Given the description of an element on the screen output the (x, y) to click on. 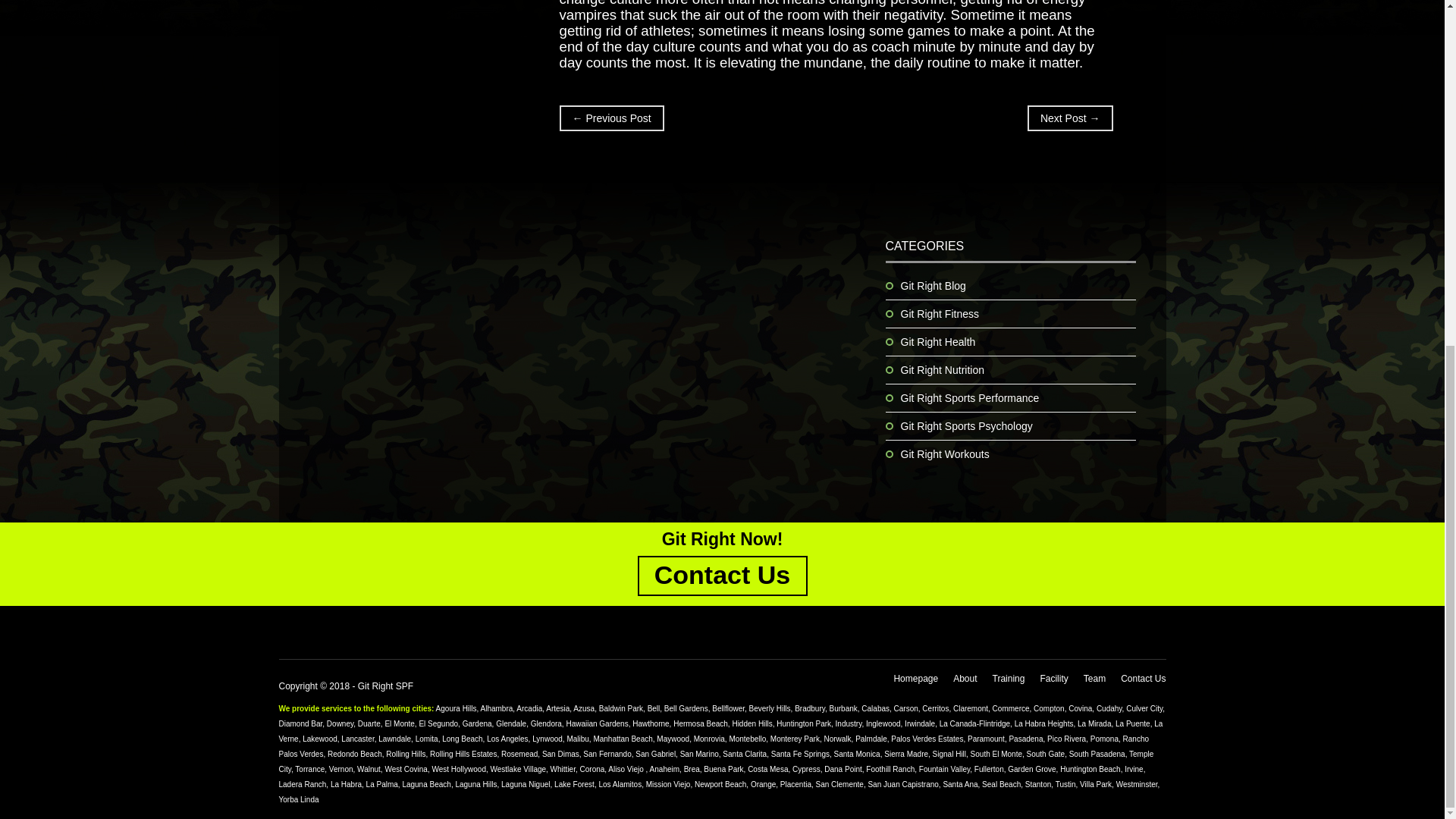
About (964, 678)
Git Right Blog (933, 285)
Homepage (915, 678)
Git Right Fitness (939, 313)
Git Right Sports Performance (970, 398)
Training (1008, 678)
Contact Us (1143, 678)
Git Right Health (938, 341)
Git Right Nutrition (942, 369)
Facility (1053, 678)
Git Right Workouts (945, 453)
Git Right Sports Psychology (966, 426)
Team (1094, 678)
